Given the description of an element on the screen output the (x, y) to click on. 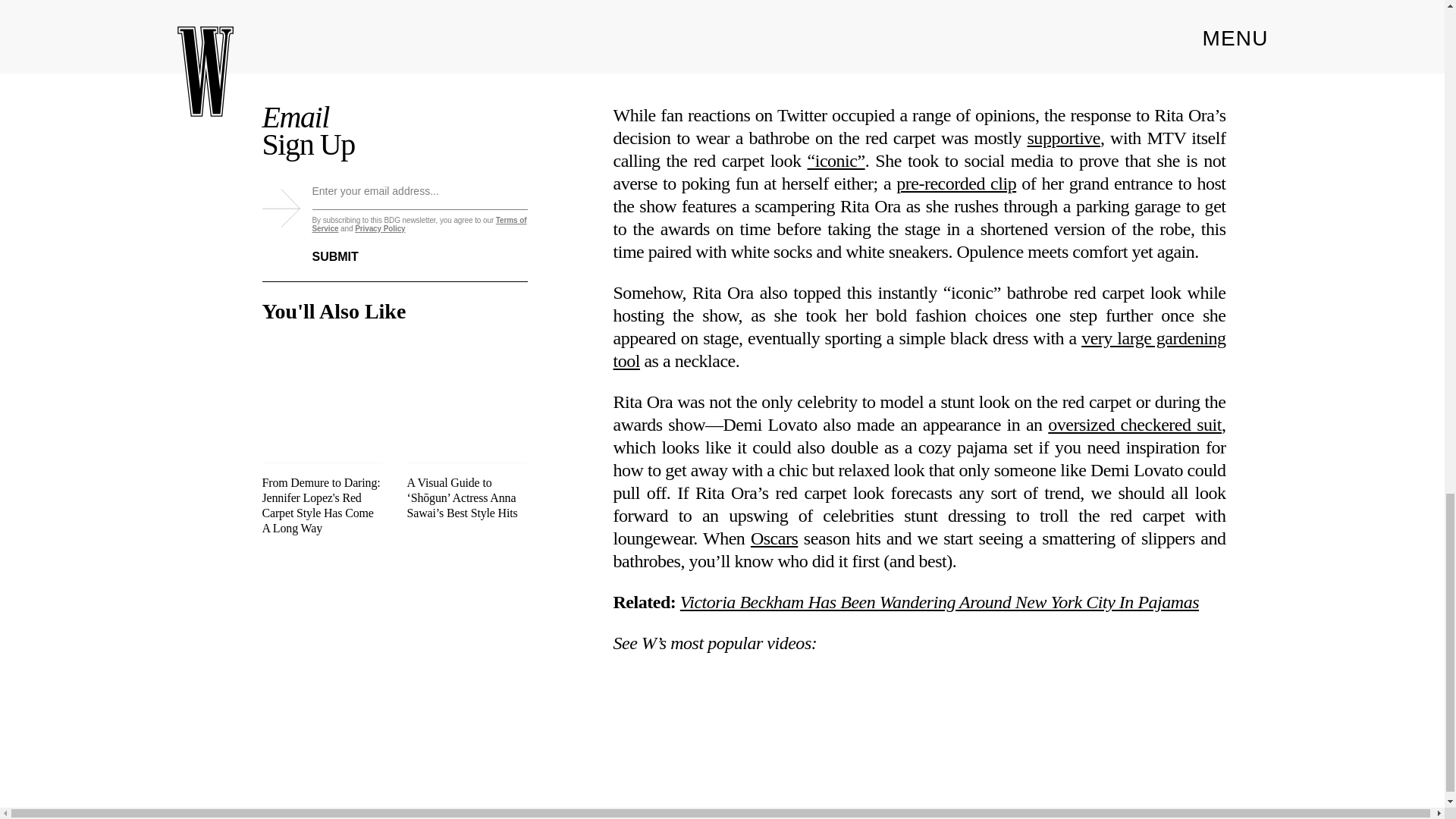
SUBMIT (347, 247)
oversized checkered suit (1134, 424)
Terms of Service (420, 224)
Privacy Policy (379, 228)
Oscars (774, 537)
pre-recorded clip (956, 183)
very large gardening tool (918, 349)
supportive (1063, 137)
